Given the description of an element on the screen output the (x, y) to click on. 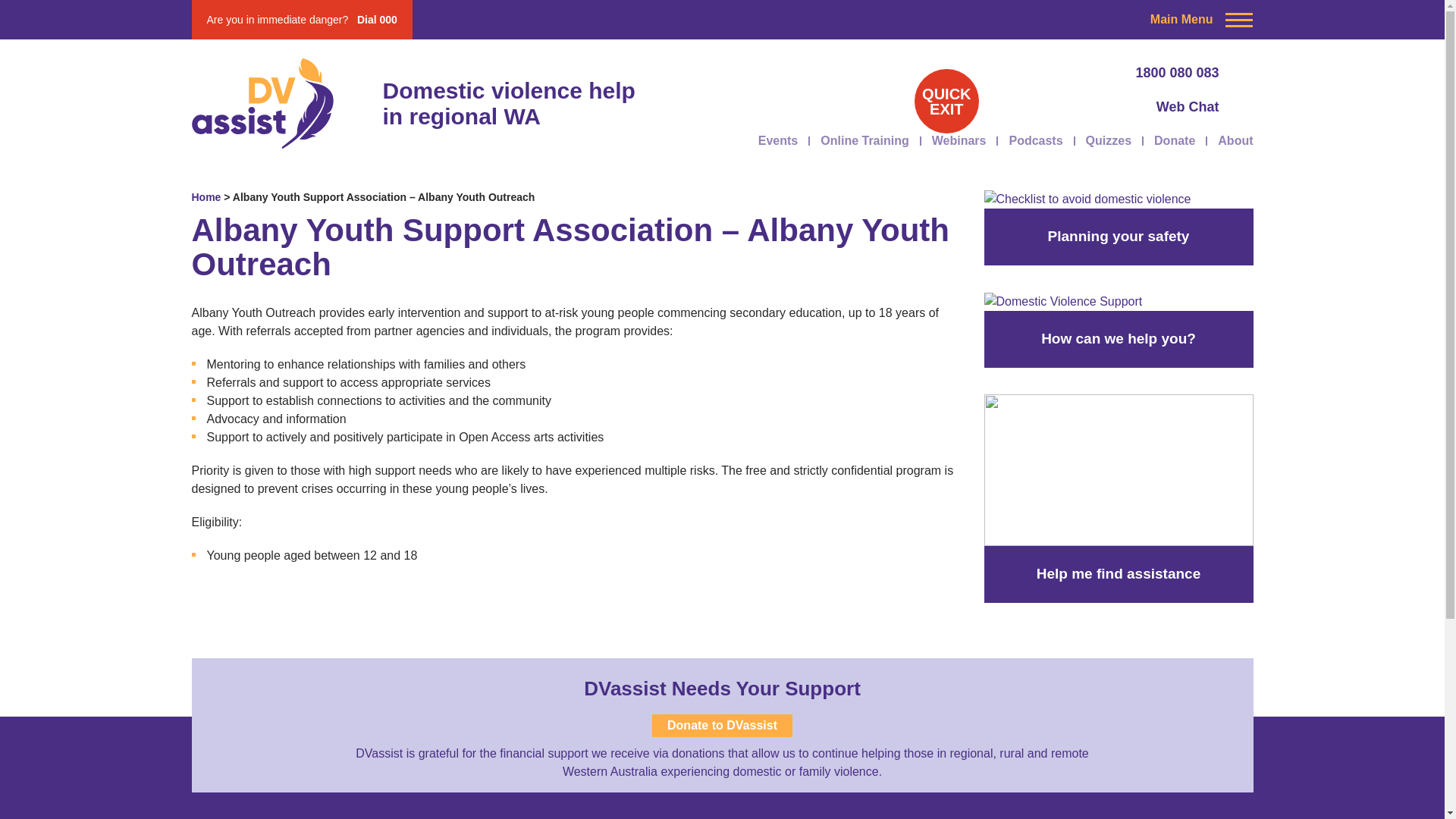
Help me find assistance (1118, 469)
Events (777, 140)
Webinars (959, 140)
Donate to DVassist (722, 725)
Dial 000 (376, 19)
1800 080 083 (1083, 73)
Go to DVassist. (205, 196)
Podcasts (1035, 140)
Online Training (864, 140)
How can we help you? (1063, 301)
QUICK EXIT (946, 100)
About (1234, 140)
Quizzes (1108, 140)
Web Chat (1083, 107)
Home (205, 196)
